Given the description of an element on the screen output the (x, y) to click on. 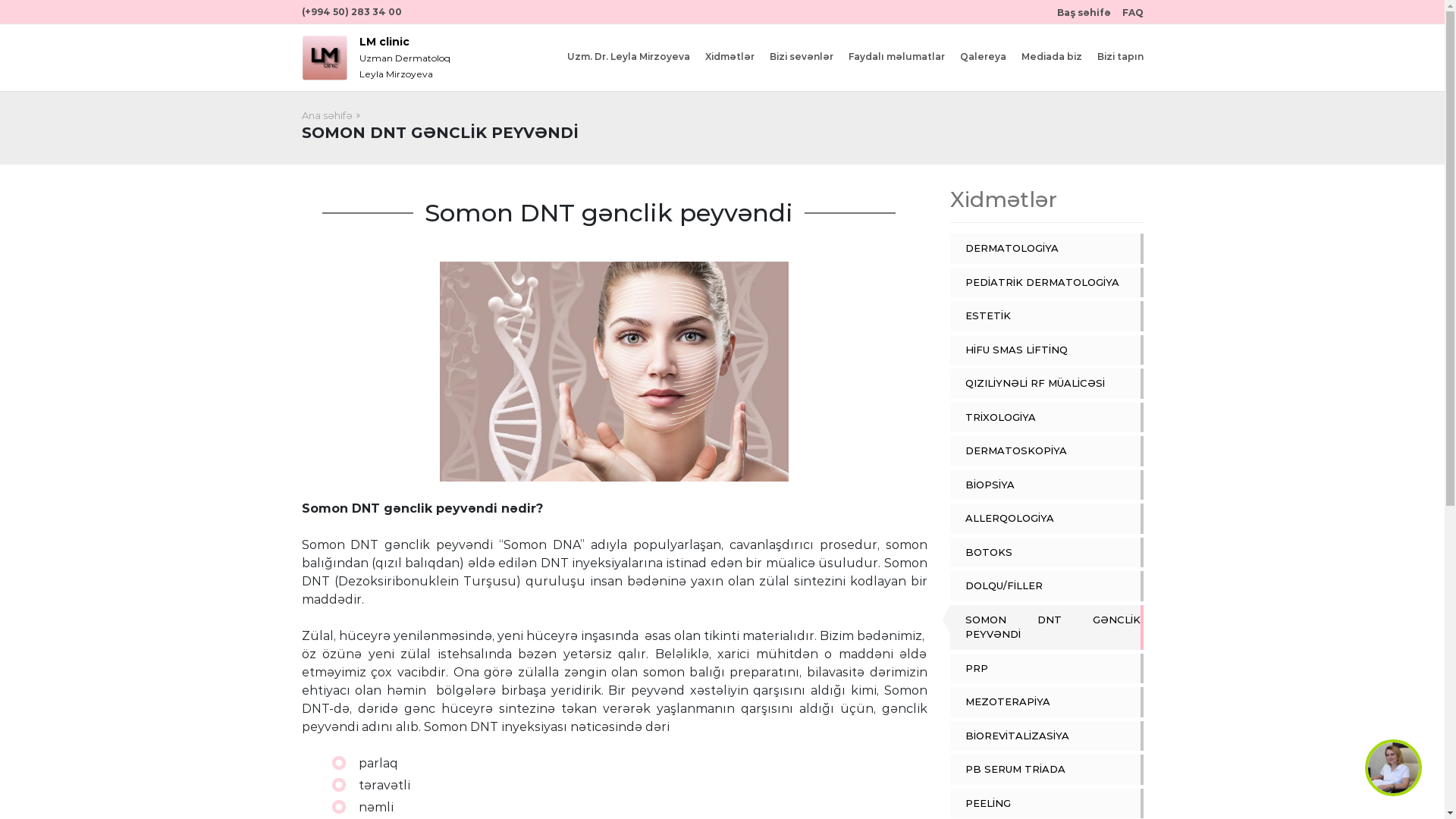
PRP Element type: text (1051, 668)
Qalereya Element type: text (983, 56)
BOTOKS Element type: text (1051, 552)
LM clinic
Uzman Dermatoloq
Leyla Mirzoyeva Element type: text (404, 57)
Mediada biz Element type: text (1050, 56)
FAQ Element type: text (1132, 11)
(+994 50) 283 34 00 Element type: text (351, 11)
Uzm. Dr. Leyla Mirzoyeva Element type: text (628, 56)
